Given the description of an element on the screen output the (x, y) to click on. 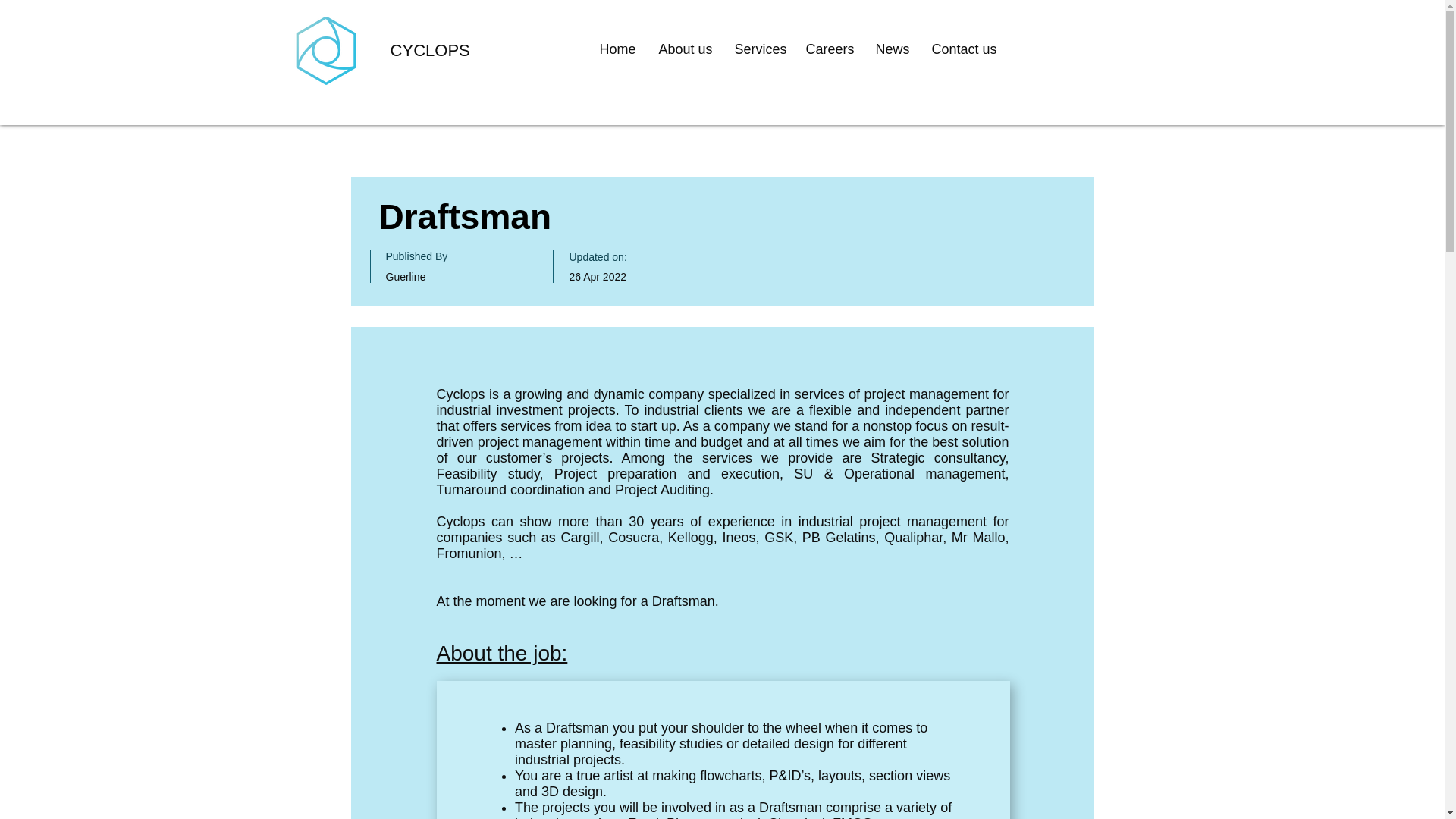
Services (761, 49)
About us (688, 49)
Contact us (966, 49)
News (895, 49)
Home (620, 49)
Careers (832, 49)
